Given the description of an element on the screen output the (x, y) to click on. 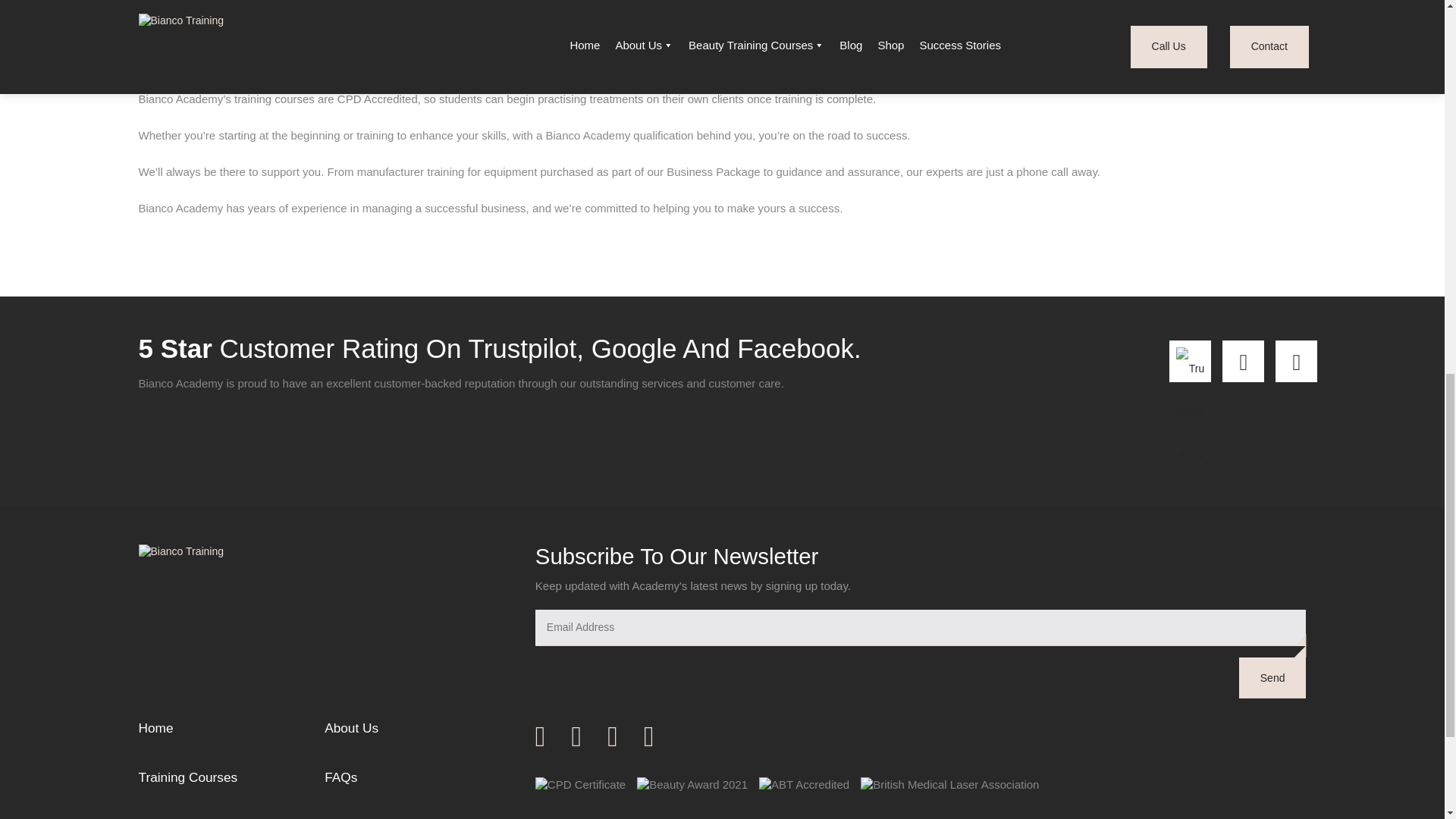
See Google Reviews (1243, 361)
About Us (417, 730)
Training Courses (231, 777)
About Us (417, 730)
Home  (231, 730)
Home (231, 730)
See Facebook Reviews (1296, 361)
Send (1272, 677)
Training Courses (231, 777)
FAQ's (417, 777)
Blog (231, 816)
See Trustpilot Reviews (1190, 361)
Bianco Training (270, 551)
Send (1272, 677)
